Given the description of an element on the screen output the (x, y) to click on. 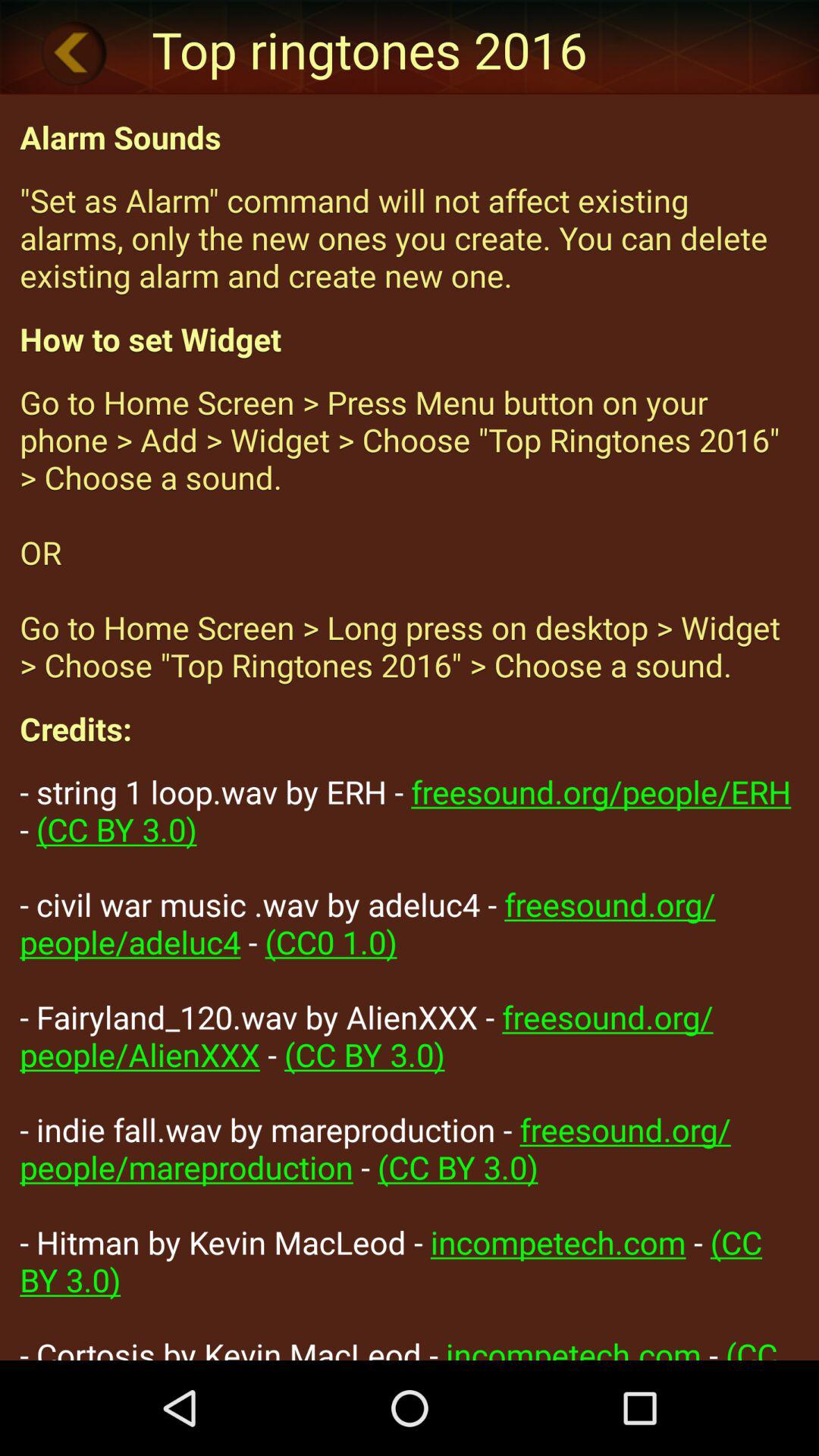
turn on icon next to the top ringtones 2016 item (73, 52)
